Given the description of an element on the screen output the (x, y) to click on. 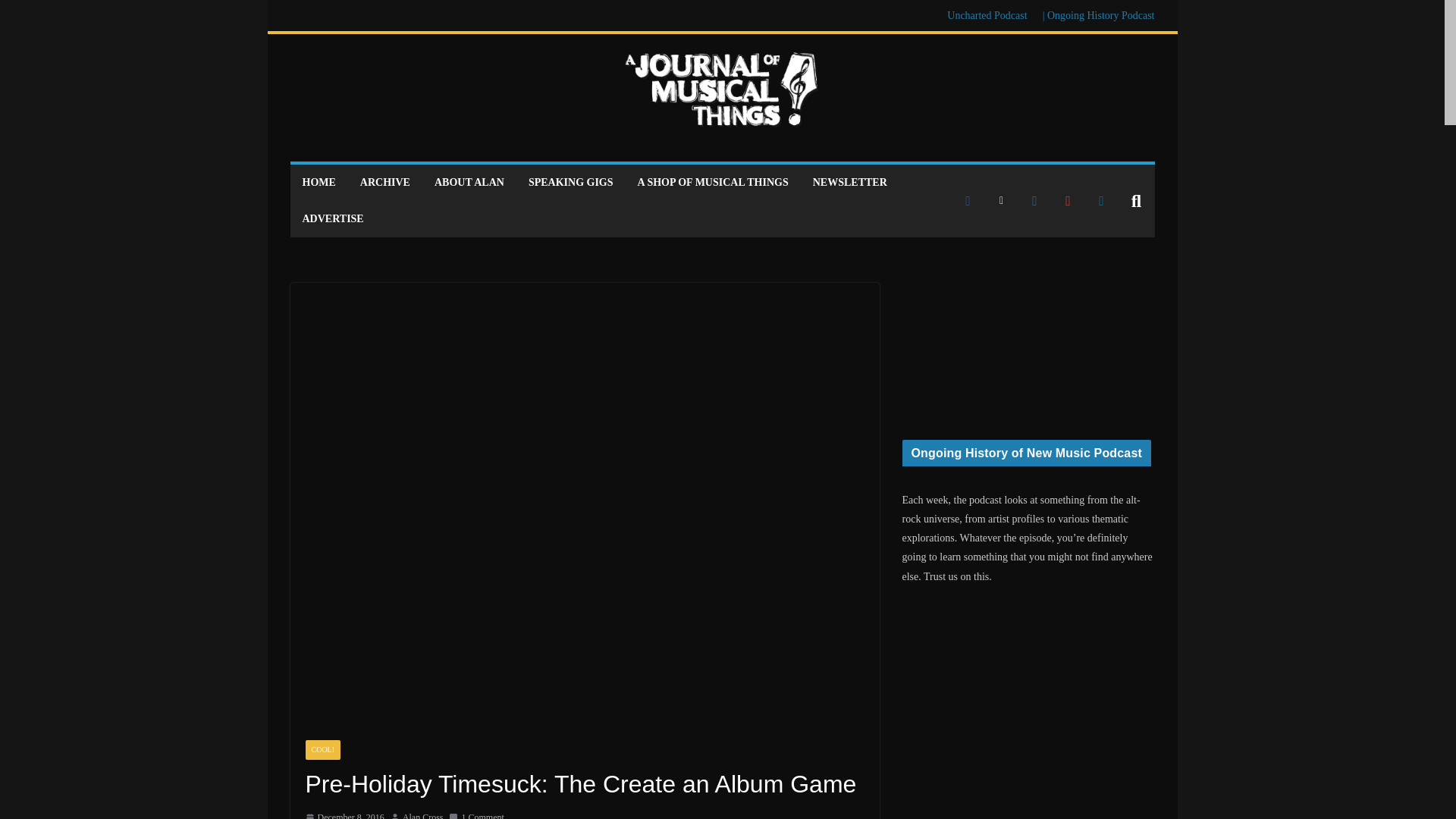
8:40 am (344, 814)
A SHOP OF MUSICAL THINGS (713, 182)
COOL! (322, 750)
Alan Cross (423, 814)
ADVERTISE (331, 219)
SPEAKING GIGS (570, 182)
Uncharted Podcast (986, 15)
1 Comment (475, 814)
HOME (317, 182)
December 8, 2016 (344, 814)
